Given the description of an element on the screen output the (x, y) to click on. 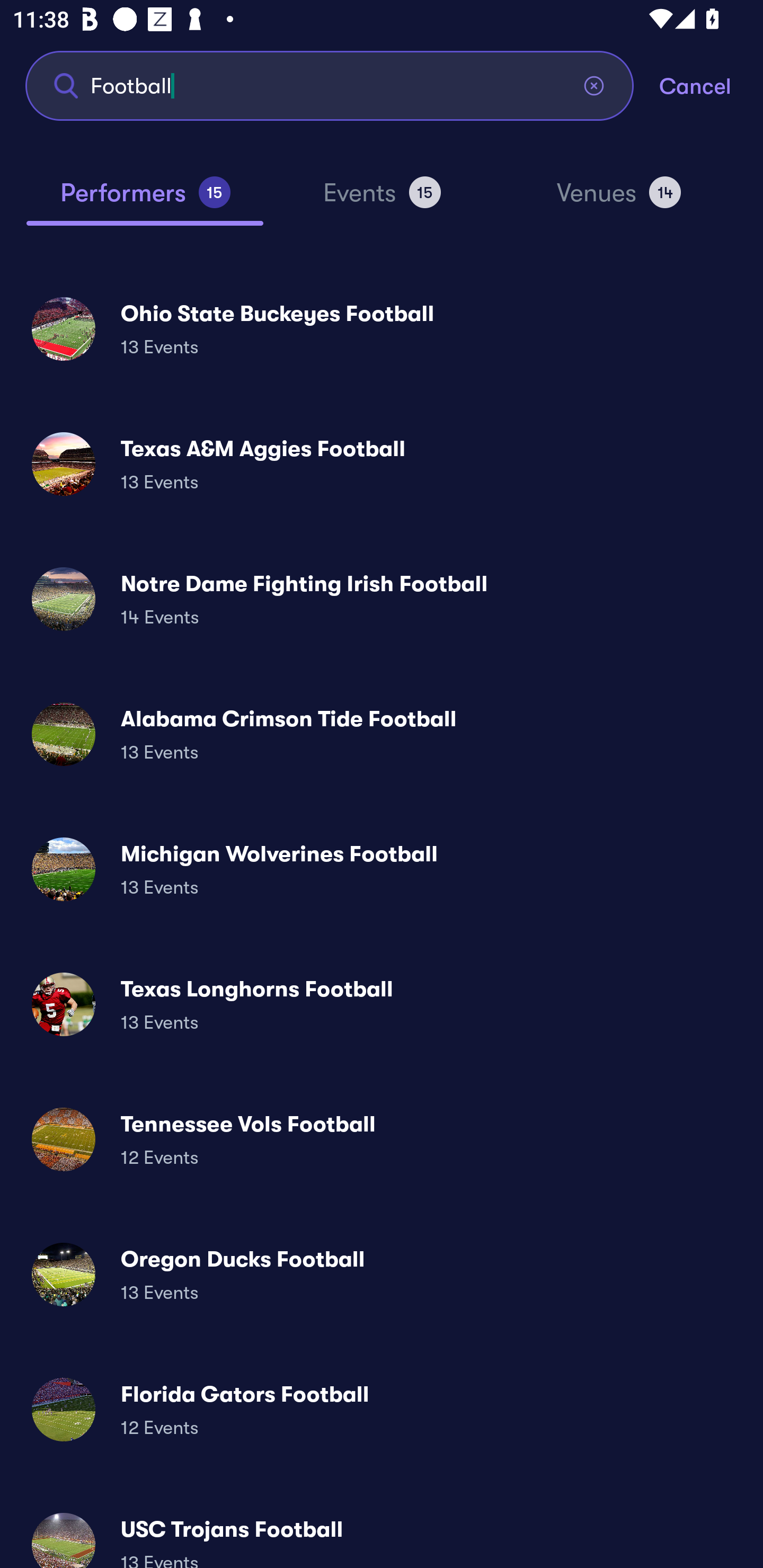
Cancel (711, 85)
Football Find (329, 85)
Football Find (329, 85)
Performers 15 (144, 200)
Events 15 (381, 200)
Venues 14 (618, 200)
Ohio State Buckeyes Football 13 Events (381, 328)
Texas A&M Aggies Football 13 Events (381, 464)
Notre Dame Fighting Irish Football 14 Events (381, 598)
Alabama Crimson Tide Football 13 Events (381, 734)
Michigan Wolverines Football 13 Events (381, 869)
Texas Longhorns Football 13 Events (381, 1004)
Tennessee Vols Football 12 Events (381, 1138)
Oregon Ducks Football 13 Events (381, 1273)
Florida Gators Football 12 Events (381, 1409)
USC Trojans Football 13 Events (381, 1532)
